Given the description of an element on the screen output the (x, y) to click on. 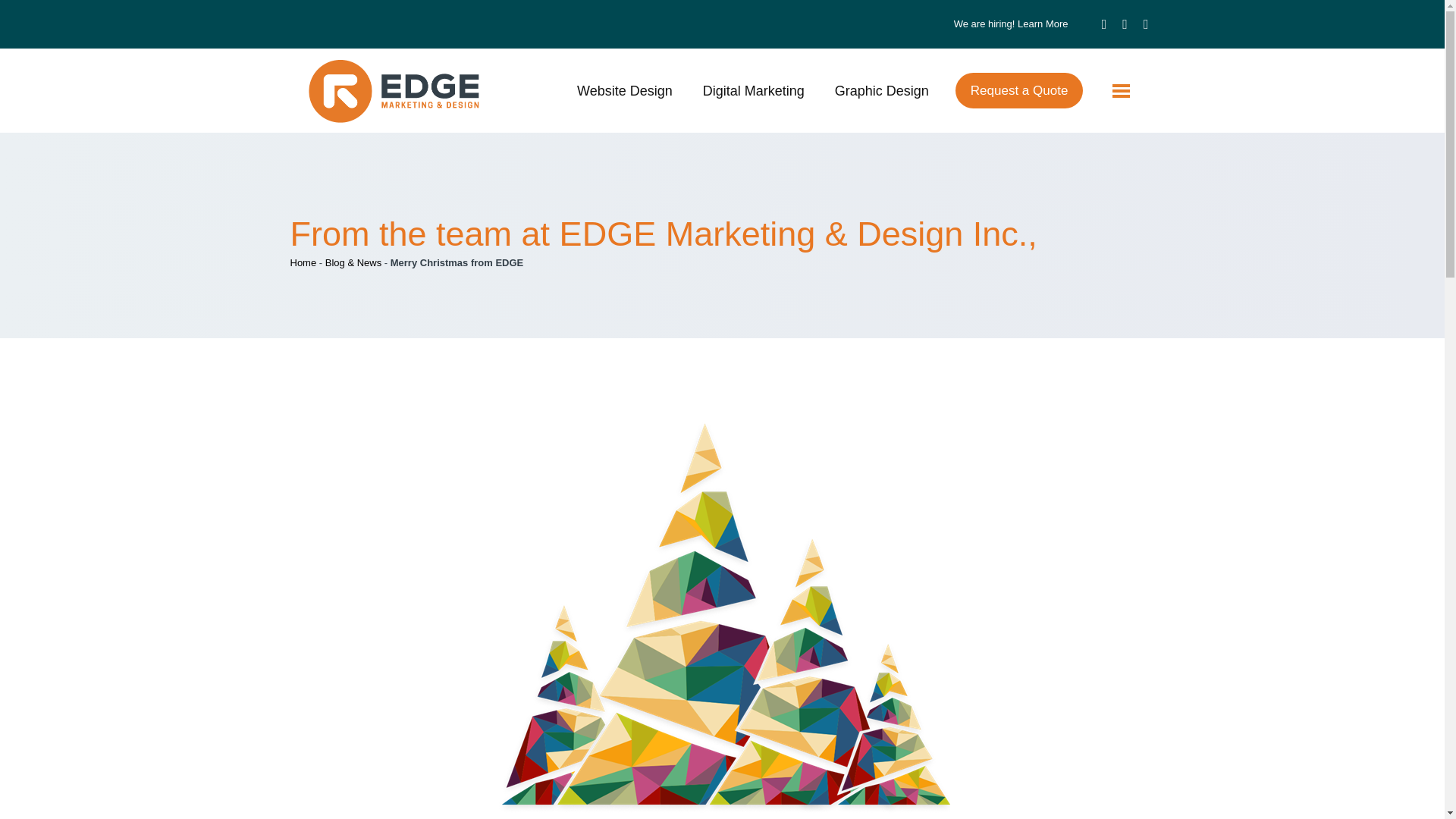
Digital Marketing (753, 90)
Request a Quote (1019, 90)
Home (302, 262)
Graphic Design (881, 90)
Website Design (624, 90)
Learn More (1042, 23)
